Given the description of an element on the screen output the (x, y) to click on. 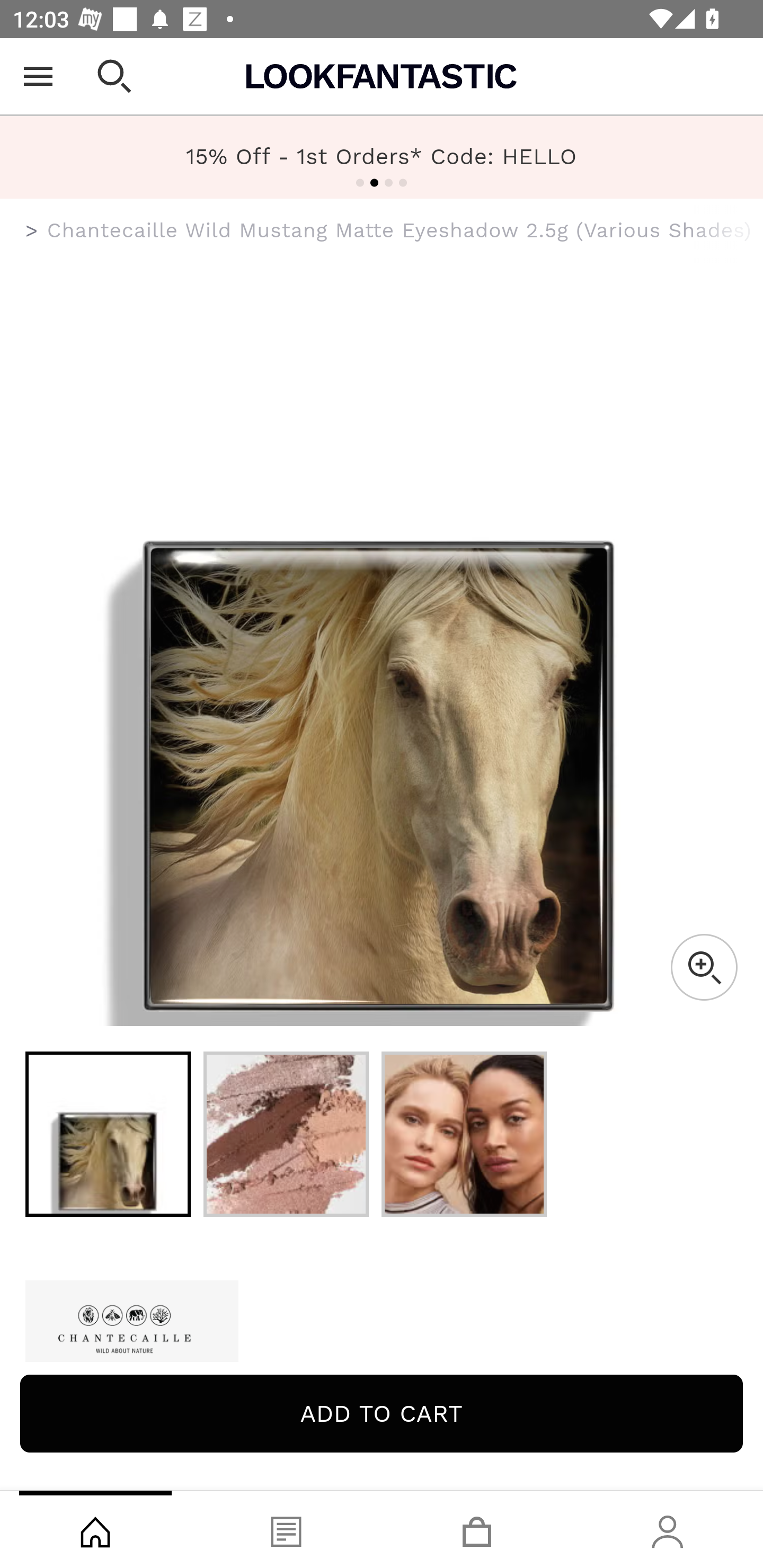
Open Menu (38, 75)
Open search (114, 75)
Lookfantastic USA (381, 75)
us.lookfantastic (32, 230)
Zoom (703, 966)
Chantecaille (381, 1321)
Add to cart (381, 1413)
Shop, tab, 1 of 4 (95, 1529)
Blog, tab, 2 of 4 (285, 1529)
Basket, tab, 3 of 4 (476, 1529)
Account, tab, 4 of 4 (667, 1529)
